Given the description of an element on the screen output the (x, y) to click on. 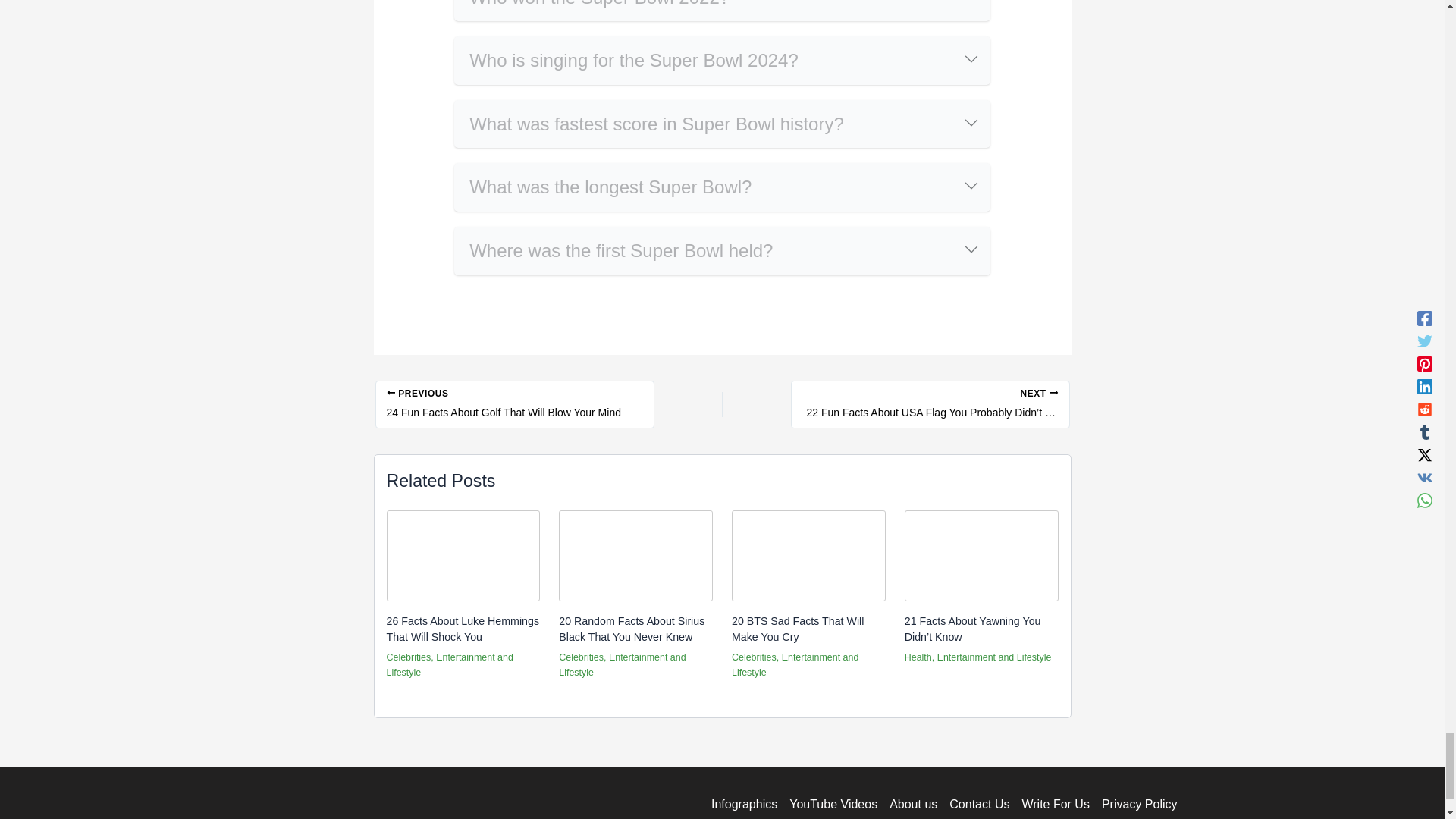
on (459, 104)
24 Fun Facts About Golf That Will Blow Your Mind (513, 404)
on (459, 167)
on (459, 231)
on (459, 40)
